Given the description of an element on the screen output the (x, y) to click on. 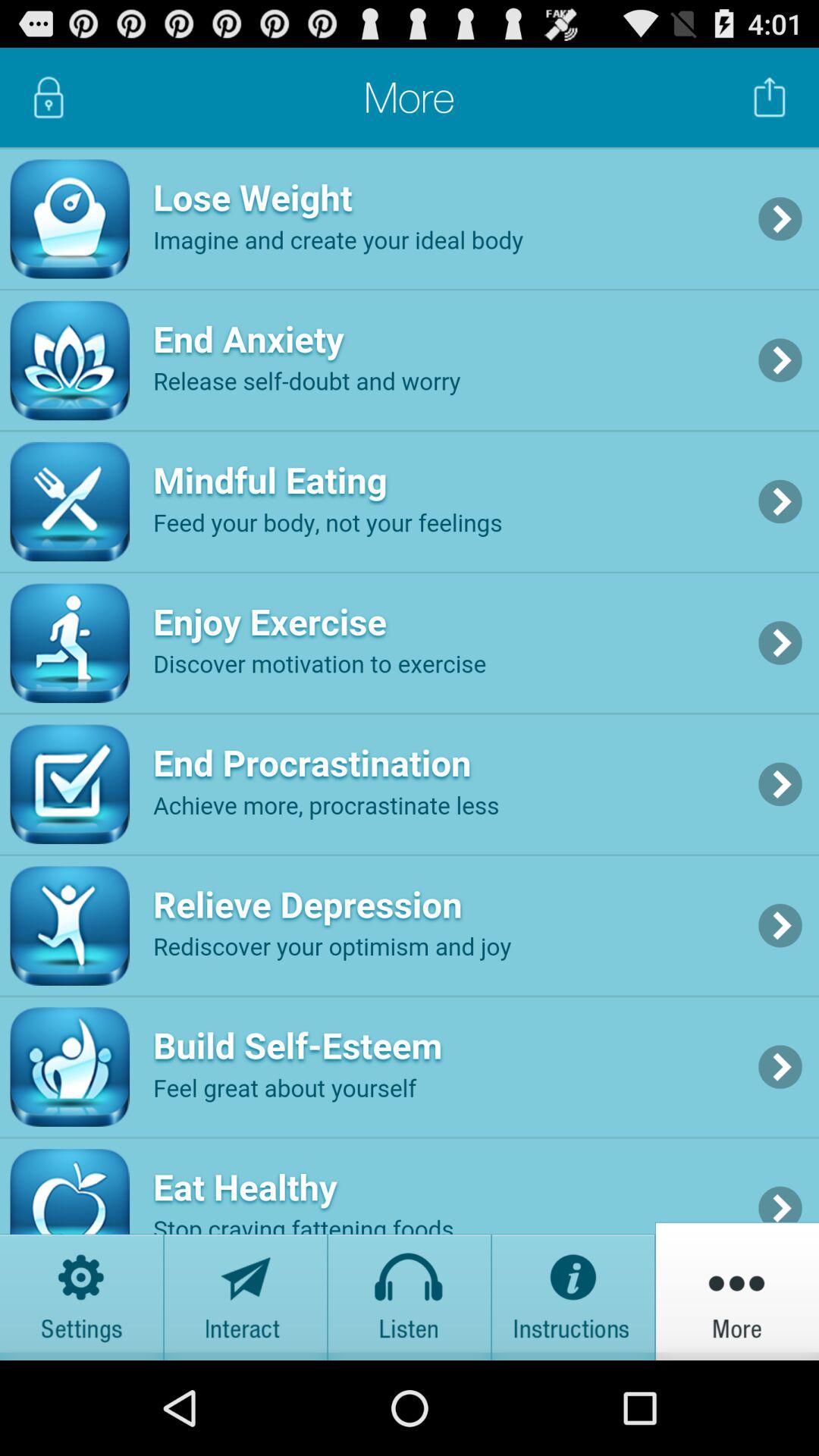
go to settings option (81, 1290)
